Given the description of an element on the screen output the (x, y) to click on. 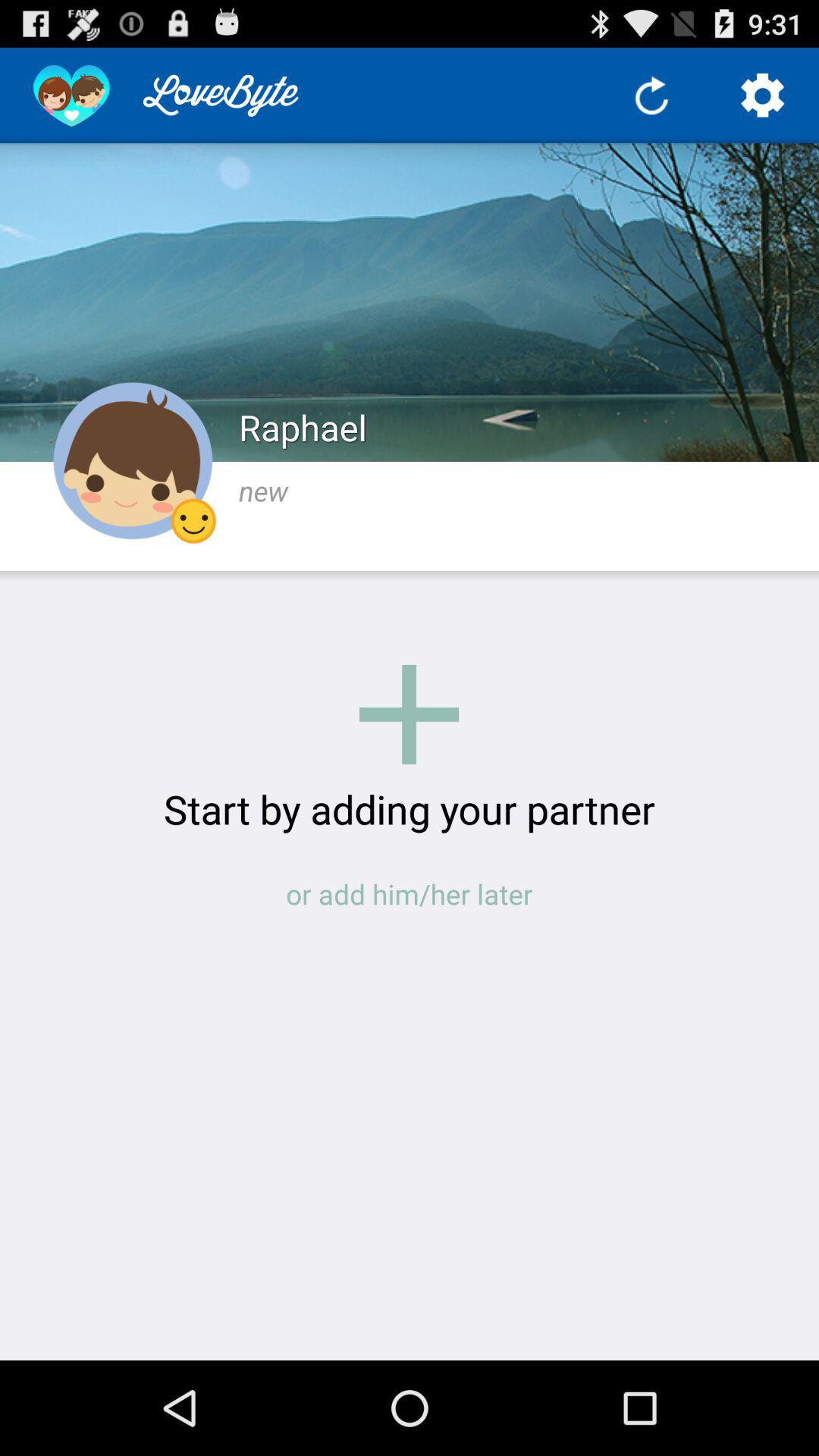
turn off the icon to the left of raphael item (132, 460)
